Given the description of an element on the screen output the (x, y) to click on. 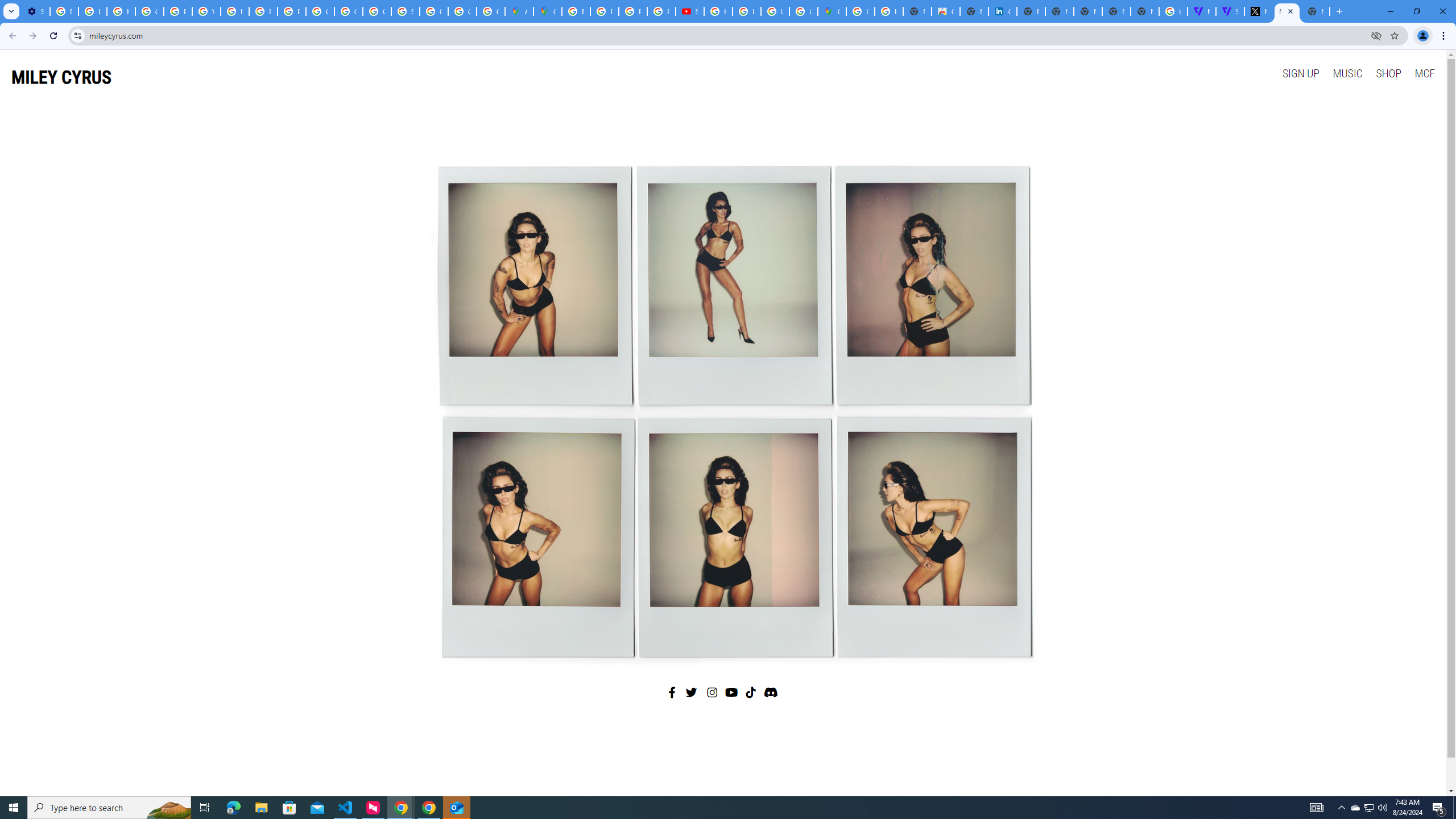
Privacy Help Center - Policies Help (178, 11)
Google Maps (547, 11)
How Chrome protects your passwords - Google Chrome Help (718, 11)
Subscriptions - YouTube (690, 11)
Learn how to find your photos - Google Photos Help (92, 11)
MILEY CYRUS. (1287, 11)
Chrome Web Store (945, 11)
MCF (1424, 73)
